Given the description of an element on the screen output the (x, y) to click on. 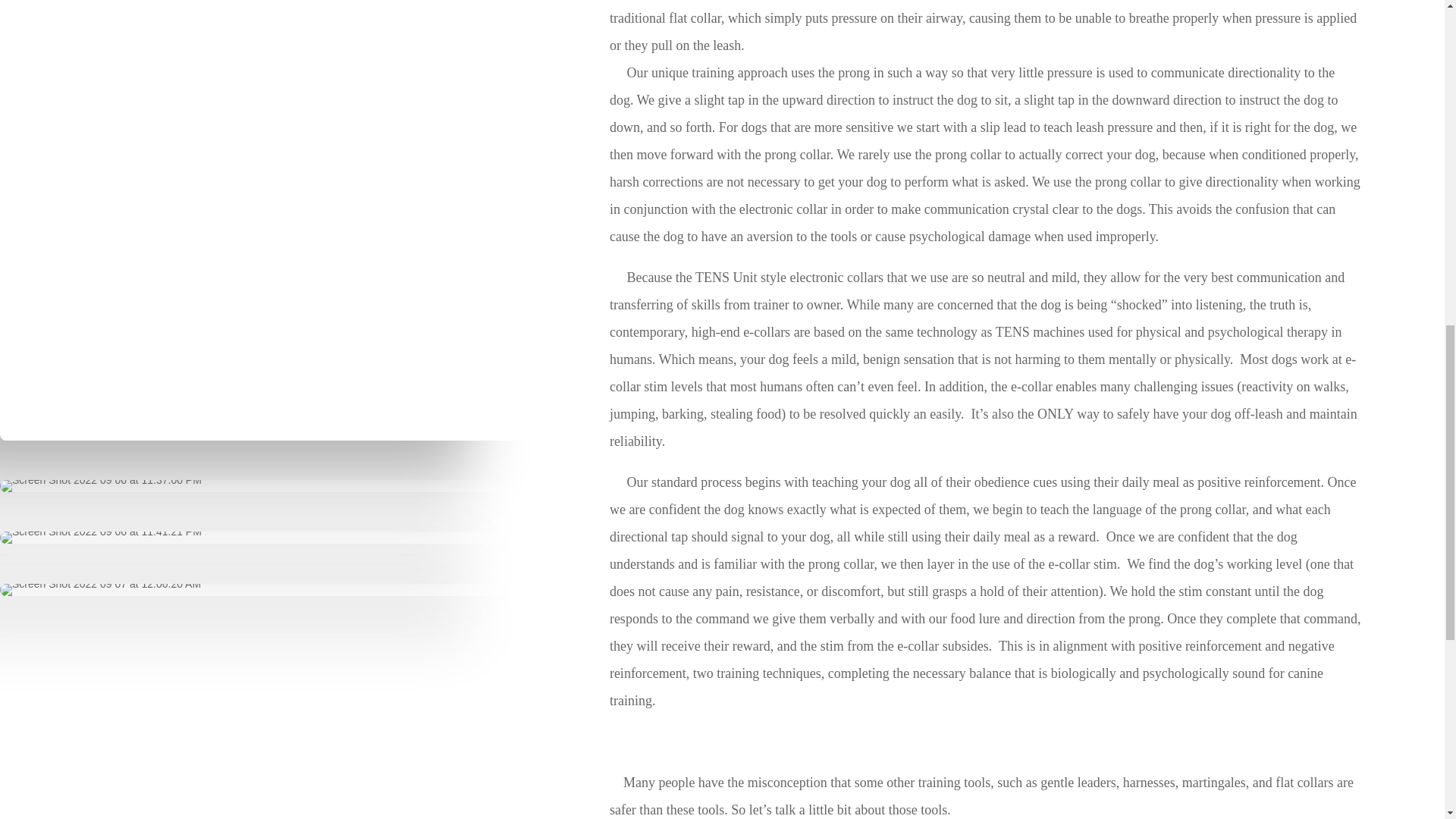
Screen Shot 2022-09-06 at 11.37.00 PM (101, 485)
Screen Shot 2022-09-06 at 11.41.21 PM (101, 537)
Screen Shot 2022-09-07 at 12.06.20 AM (100, 589)
